Given the description of an element on the screen output the (x, y) to click on. 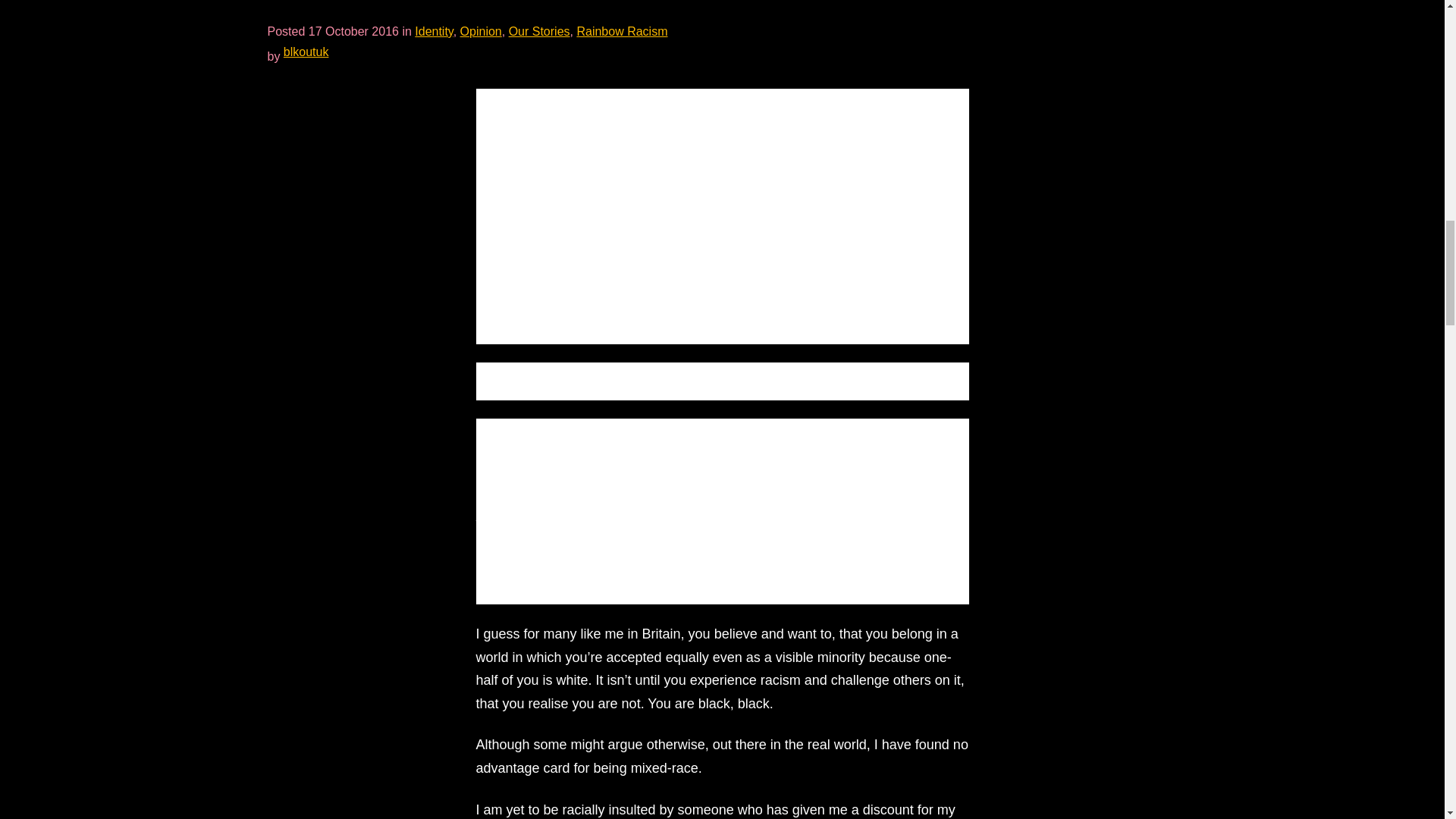
blkoutuk (306, 51)
Identity (433, 31)
Our Stories (539, 31)
Opinion (481, 31)
Rainbow Racism (621, 31)
